Given the description of an element on the screen output the (x, y) to click on. 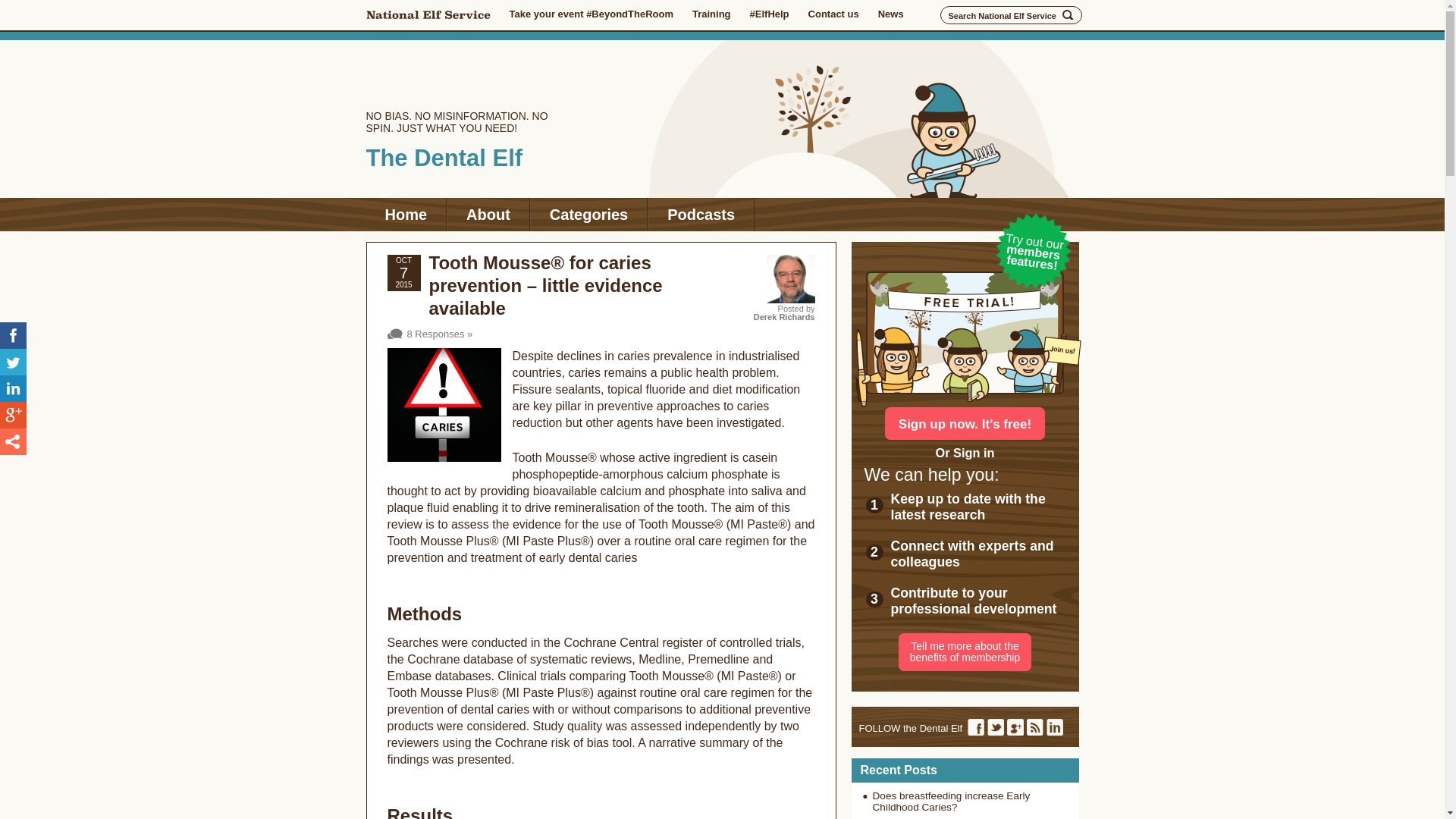
About (487, 214)
Home (405, 214)
Contact us (833, 13)
Share on LinkedIn (13, 388)
Tweet this on Twitter (13, 361)
Search (1068, 14)
Posts by Derek Richards (784, 316)
Search (1068, 14)
Share via sharethis (13, 441)
